Given the description of an element on the screen output the (x, y) to click on. 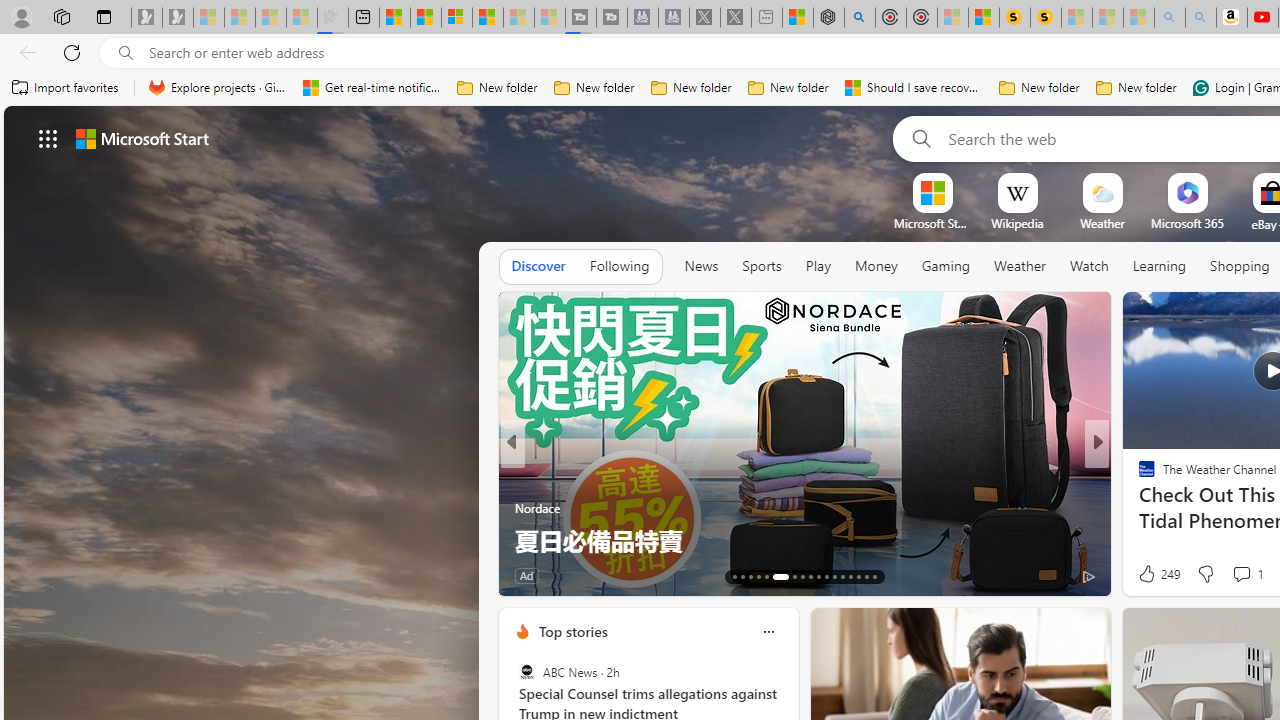
View comments 366 Comment (1234, 575)
Dislike (1204, 574)
Wildlife - MSN (797, 17)
The Independent (1138, 475)
View comments 192 Comment (1234, 575)
Watch (1089, 267)
Gaming (945, 267)
Microsoft Start Sports (932, 223)
Verywell Mind (1138, 507)
AutomationID: tab-13 (733, 576)
Class: icon-img (768, 632)
Learning (1159, 265)
